Given the description of an element on the screen output the (x, y) to click on. 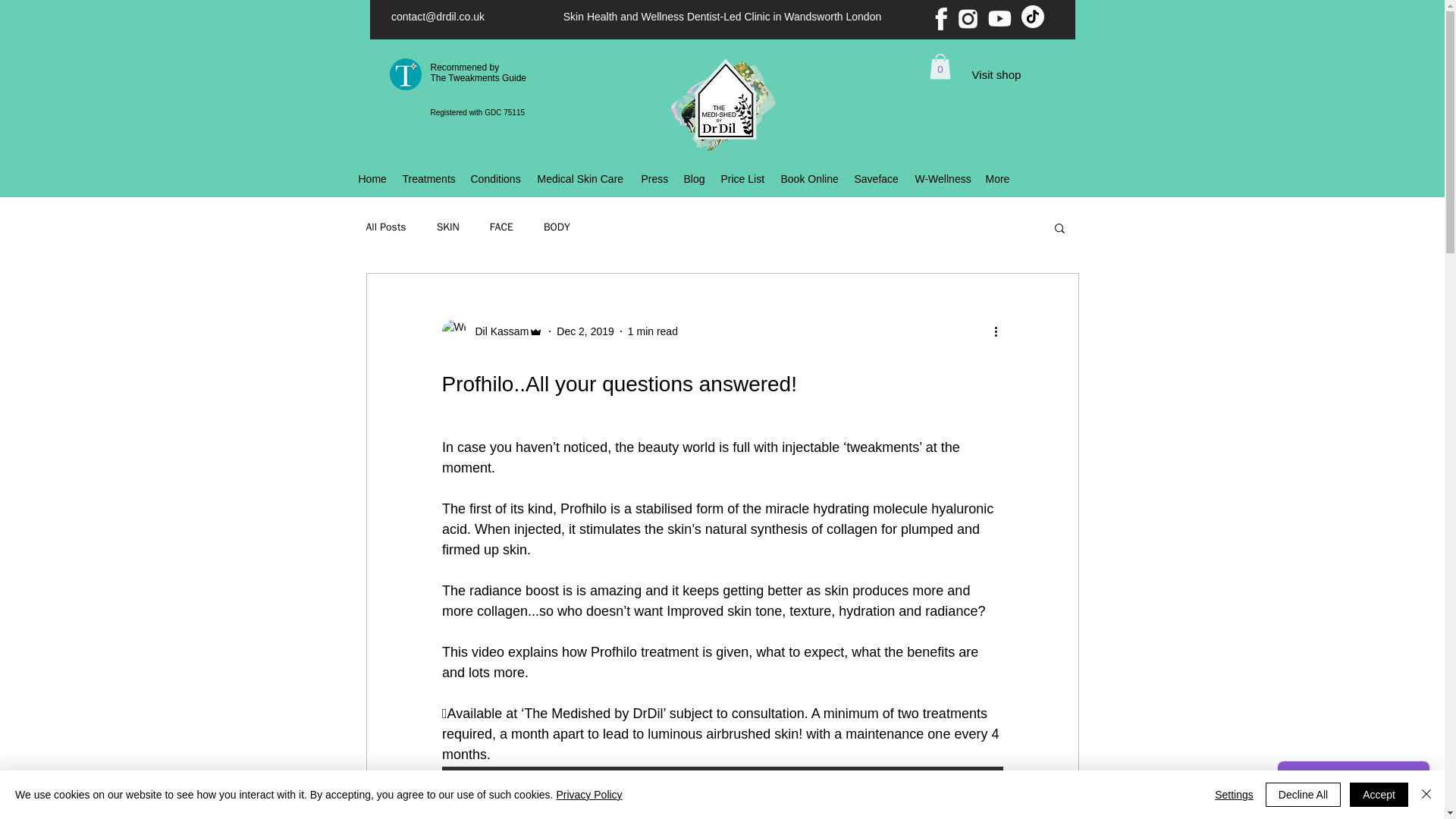
1 min read (652, 331)
Treatments (428, 178)
Home (372, 178)
Dil Kassam (496, 331)
Visit shop (478, 72)
Dec 2, 2019 (995, 74)
